Given the description of an element on the screen output the (x, y) to click on. 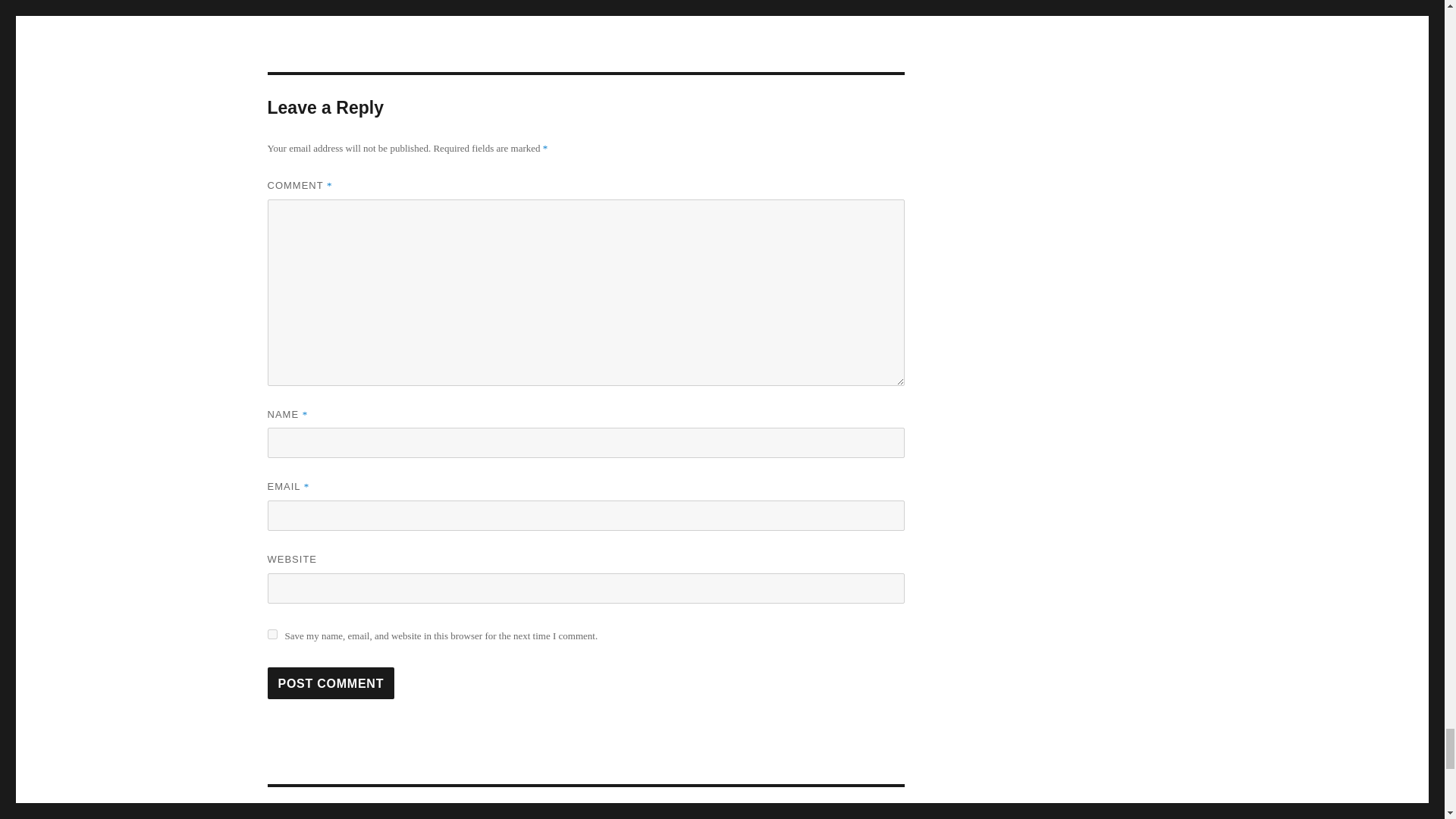
Post Comment (330, 683)
yes (271, 634)
